Given the description of an element on the screen output the (x, y) to click on. 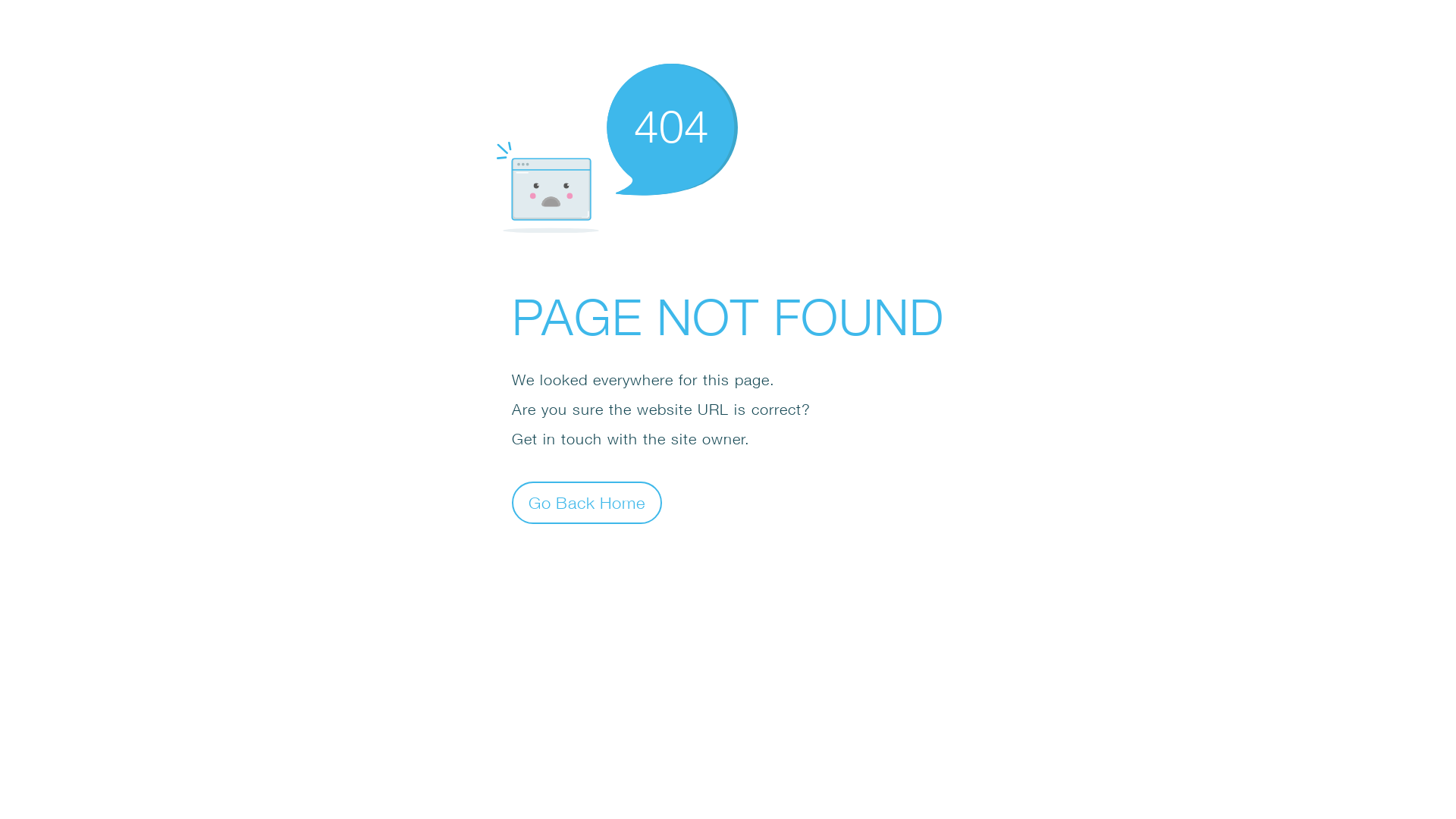
Go Back Home Element type: text (586, 502)
